Given the description of an element on the screen output the (x, y) to click on. 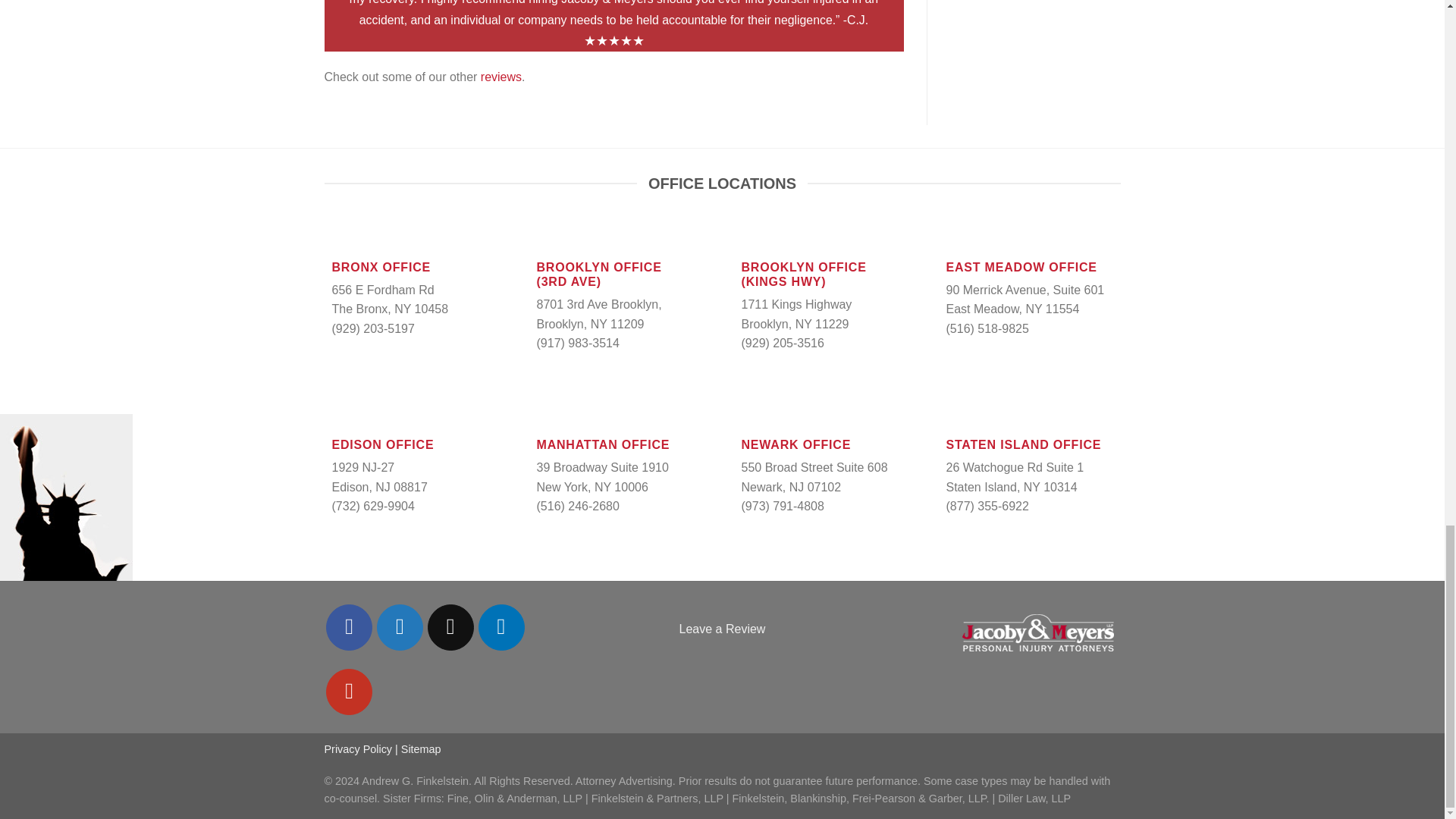
Follow on Twitter (400, 627)
Follow on Facebook (349, 627)
Follow on YouTube (349, 691)
Follow on LinkedIn (501, 627)
Privacy Policy (358, 748)
Send us an email (451, 627)
